Given the description of an element on the screen output the (x, y) to click on. 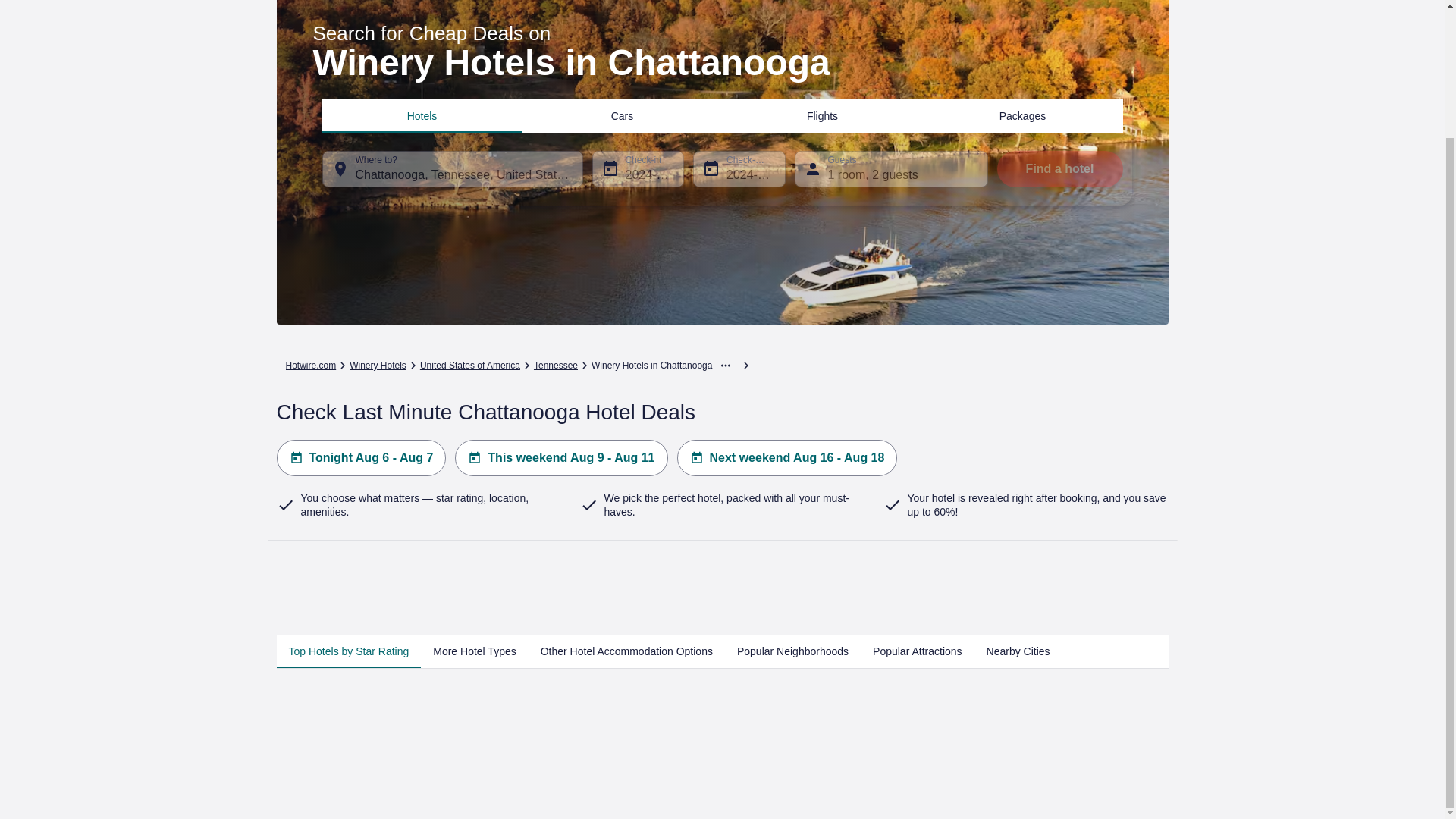
Popular Attractions (917, 651)
Flights (821, 114)
Other Hotel Accommodation Options (626, 651)
2024-08-06 (637, 167)
Hotels (421, 114)
United States of America (469, 365)
More Hotel Types (473, 651)
